Given the description of an element on the screen output the (x, y) to click on. 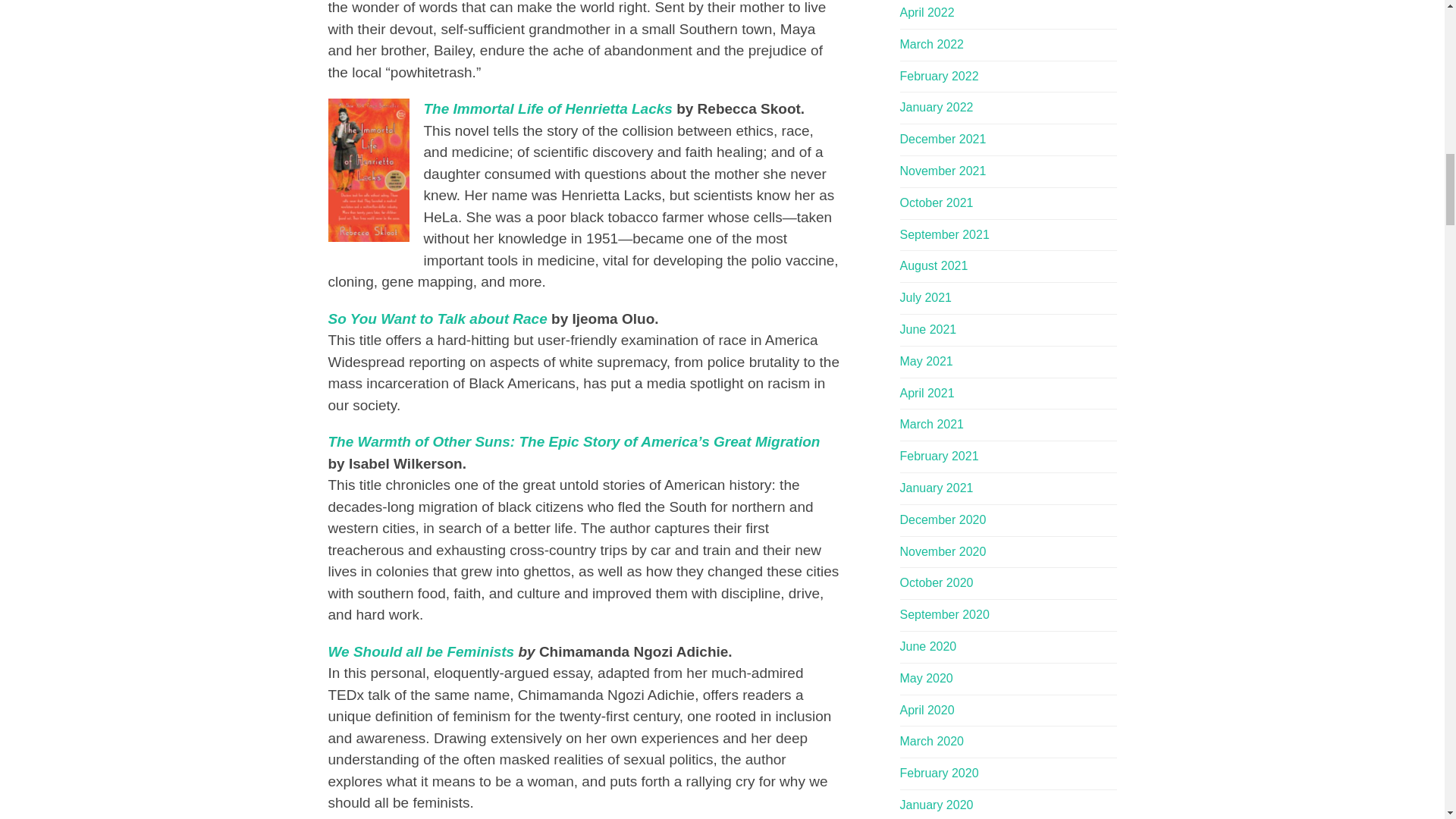
So You Want to Talk about Race (437, 318)
We Should all be Feminists (420, 651)
The Immortal Life of Henrietta Lacks (547, 108)
